Given the description of an element on the screen output the (x, y) to click on. 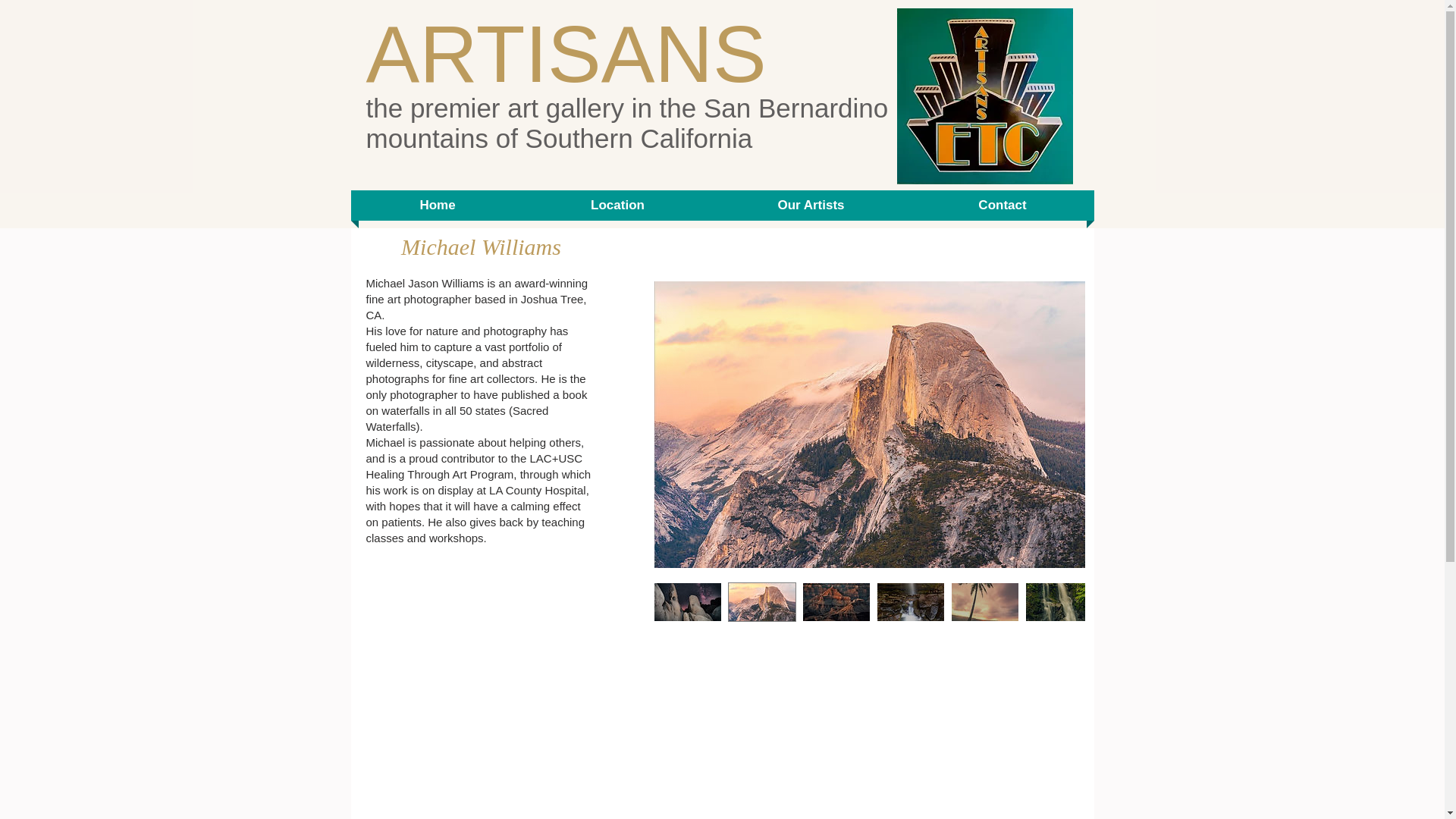
Location (617, 205)
Our Artists (811, 205)
Home (437, 205)
Contact (1002, 205)
art and gifts.jpg (983, 96)
